Given the description of an element on the screen output the (x, y) to click on. 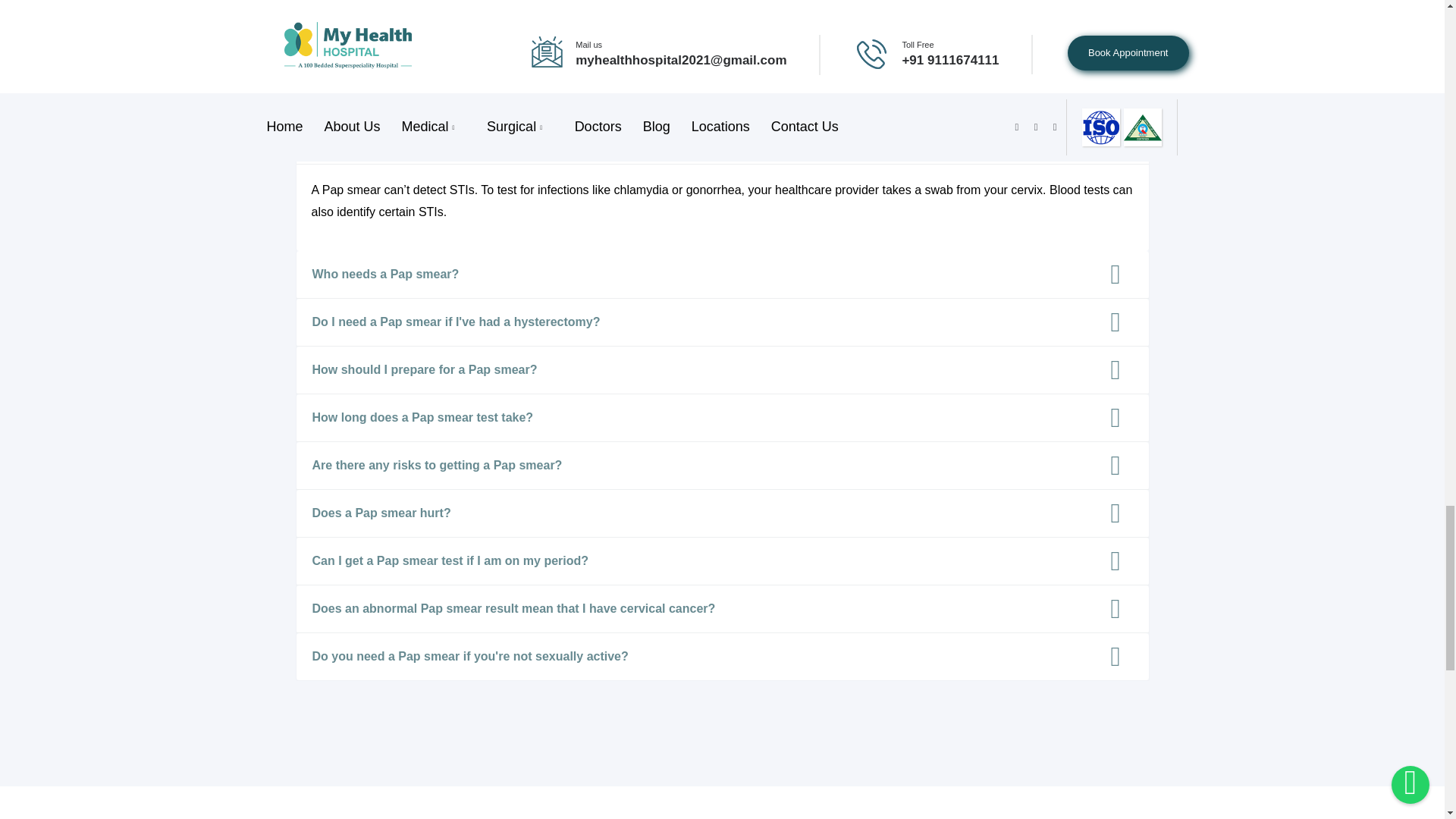
Does a Pap smear detect STIs? (721, 140)
Are there any risks to getting a Pap smear? (721, 465)
Can I get a Pap smear test if I am on my period? (721, 561)
Does a Pap smear hurt? (721, 512)
How should I prepare for a Pap smear? (721, 369)
Do you need a Pap smear if you're not sexually active? (721, 656)
Who needs a Pap smear? (721, 274)
How long does a Pap smear test take? (721, 417)
Do I need a Pap smear if I've had a hysterectomy? (721, 321)
